Given the description of an element on the screen output the (x, y) to click on. 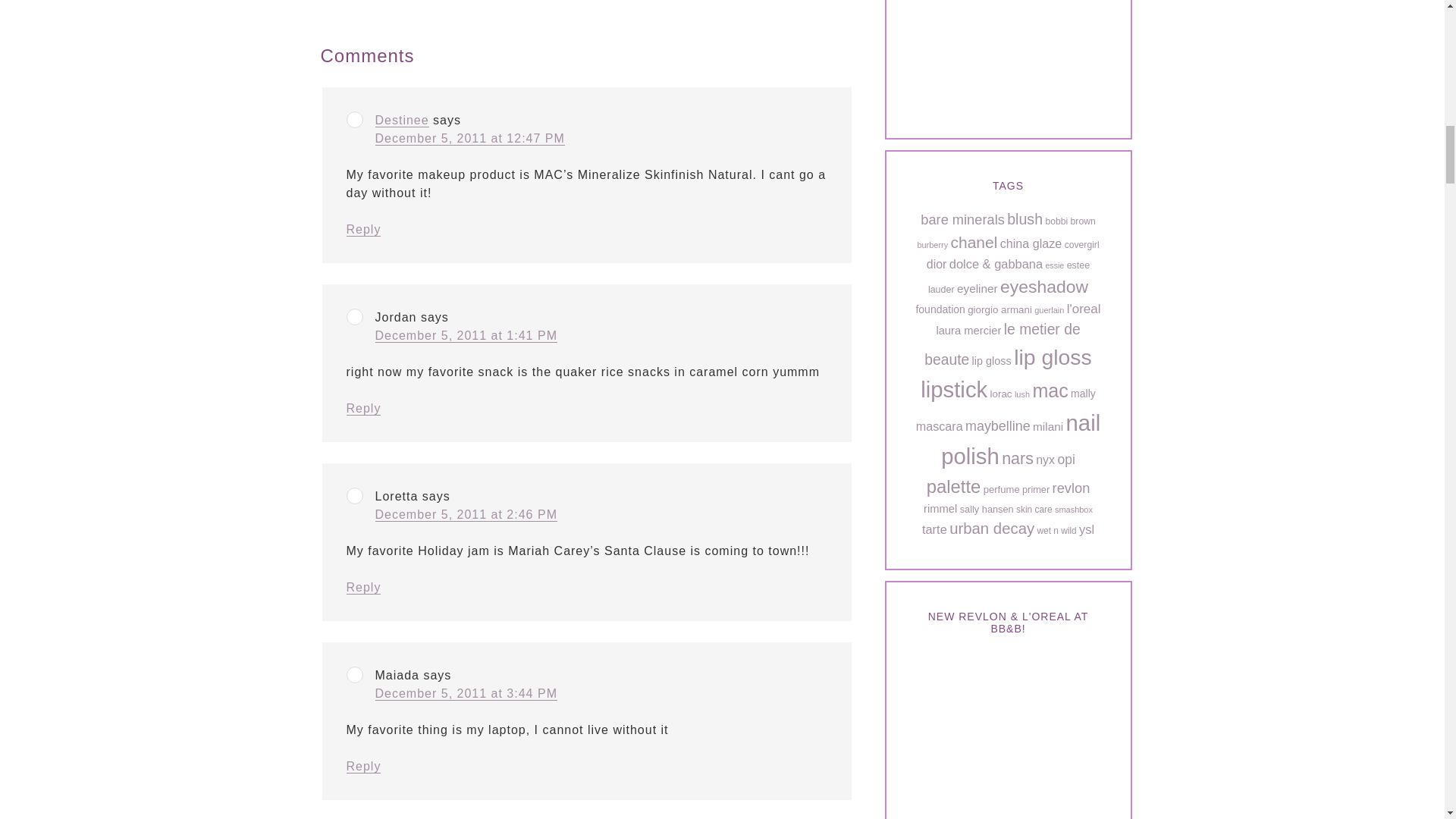
Reply (363, 587)
Destinee (401, 120)
December 5, 2011 at 2:46 PM (465, 514)
December 5, 2011 at 1:41 PM (465, 336)
December 5, 2011 at 3:44 PM (465, 694)
December 5, 2011 at 12:47 PM (469, 138)
Reply (363, 408)
Reply (363, 229)
Reply (363, 766)
